Given the description of an element on the screen output the (x, y) to click on. 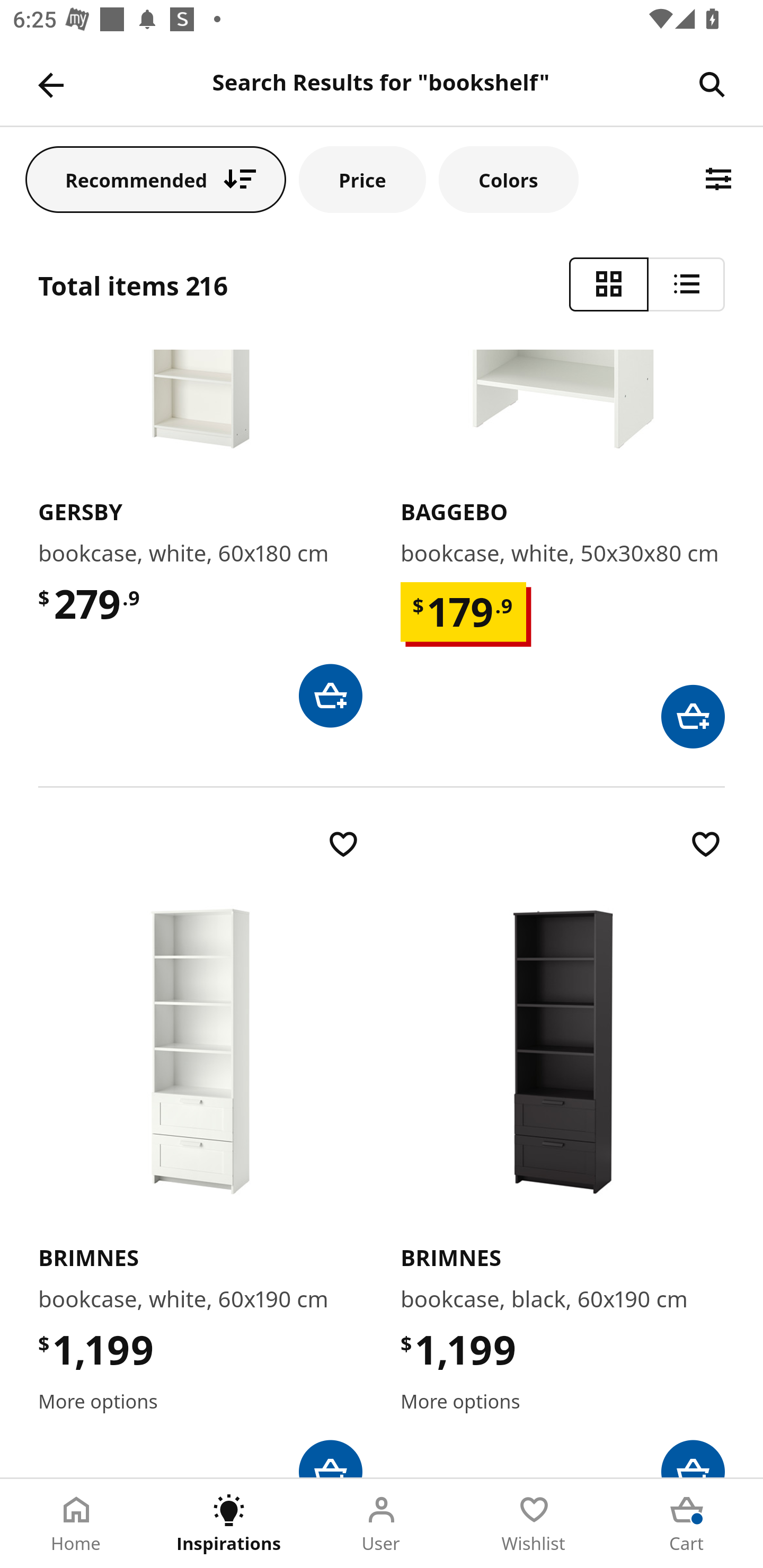
Recommended (155, 179)
Price (362, 179)
Colors (508, 179)
​G​E​R​S​B​Y​
bookcase, white, 60x180 cm
$
279
.9 (200, 538)
Home
Tab 1 of 5 (76, 1522)
Inspirations
Tab 2 of 5 (228, 1522)
User
Tab 3 of 5 (381, 1522)
Wishlist
Tab 4 of 5 (533, 1522)
Cart
Tab 5 of 5 (686, 1522)
